Given the description of an element on the screen output the (x, y) to click on. 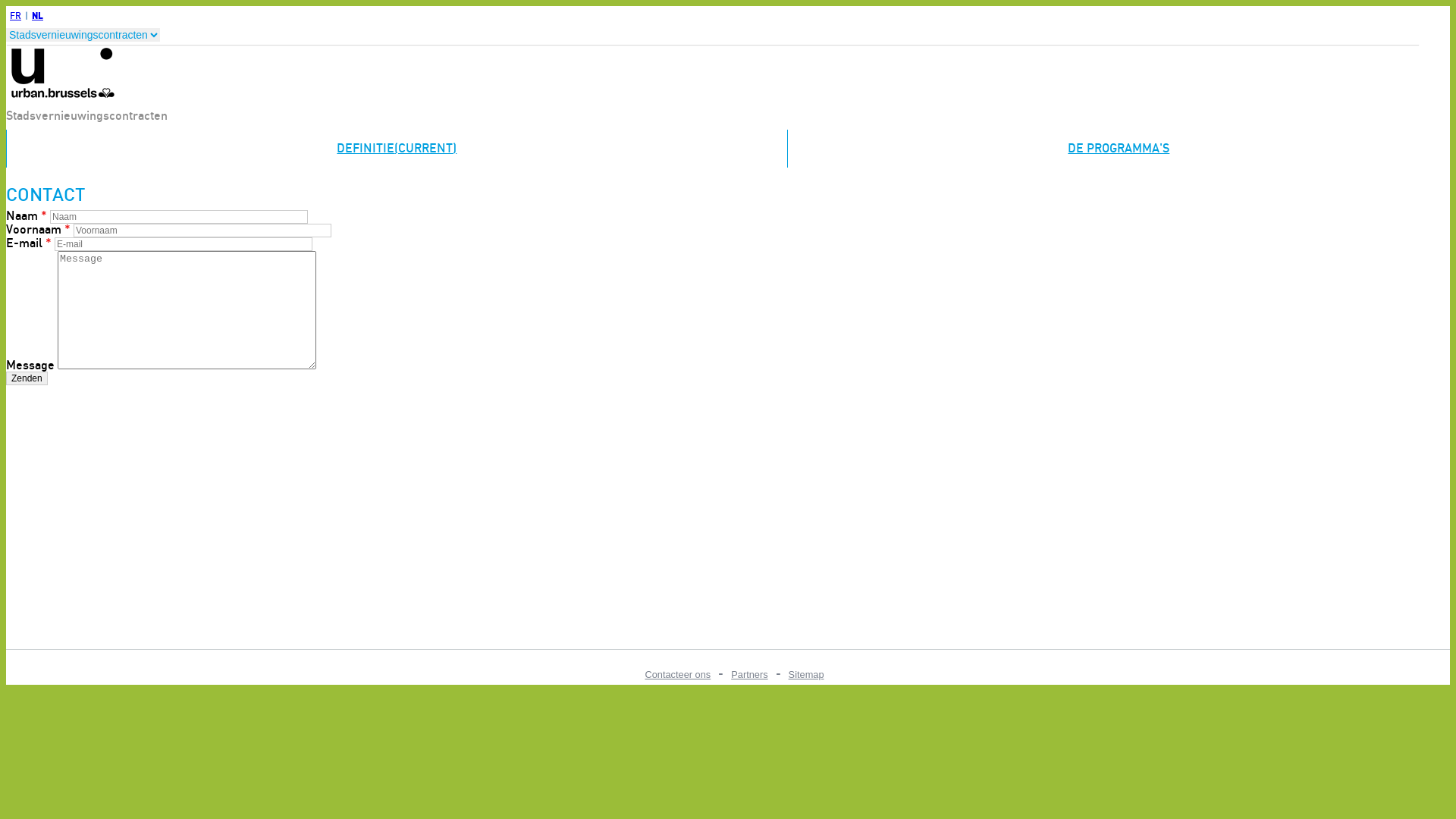
Partners Element type: text (749, 674)
Sitemap Element type: text (806, 674)
FR Element type: text (15, 15)
DEFINITIE(CURRENT) Element type: text (396, 148)
Contacteer ons Element type: text (677, 674)
Zenden Element type: text (26, 378)
DE PROGRAMMA'S Element type: text (1118, 148)
NL Element type: text (37, 15)
